Given the description of an element on the screen output the (x, y) to click on. 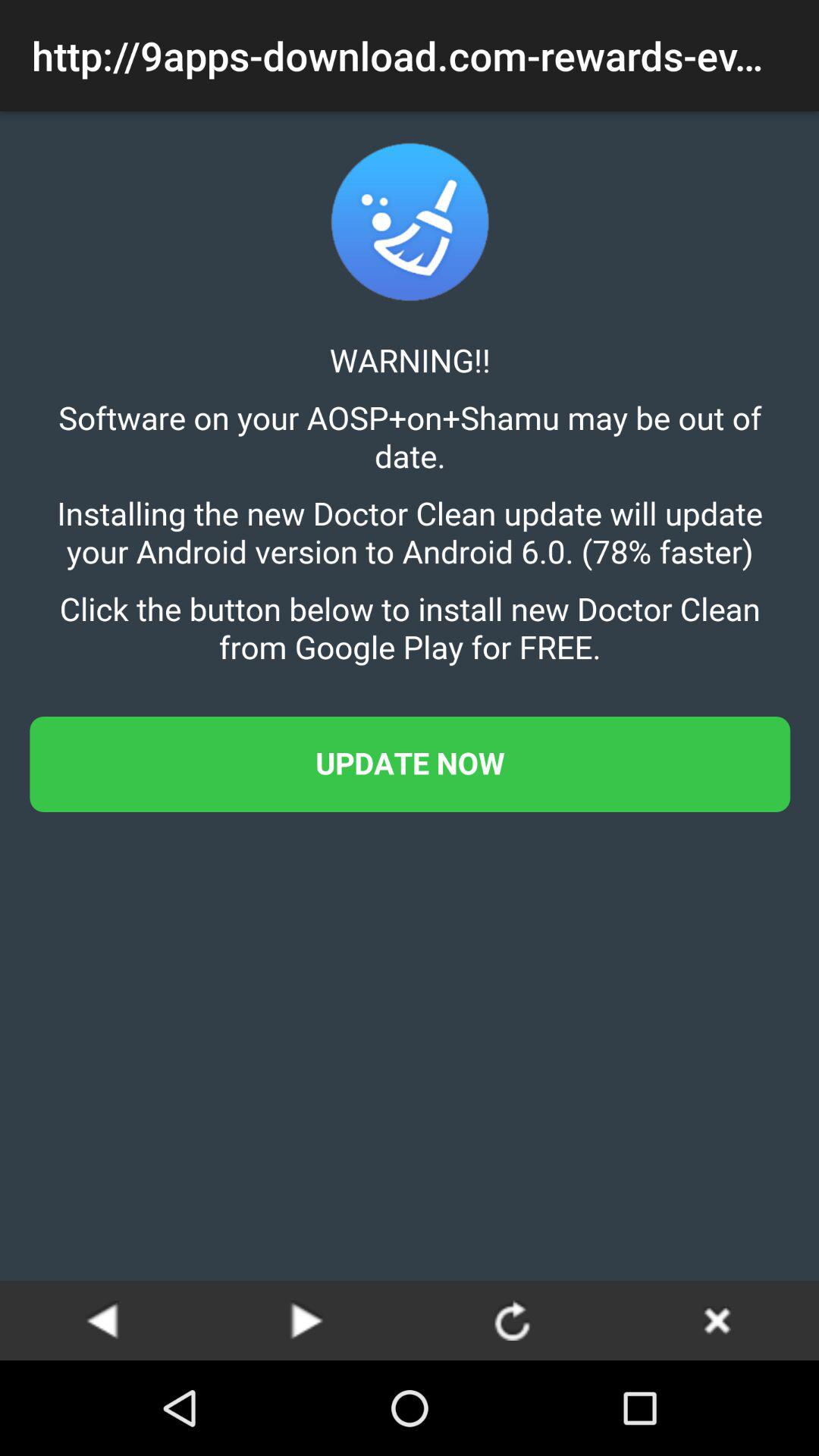
close tab (716, 1320)
